Given the description of an element on the screen output the (x, y) to click on. 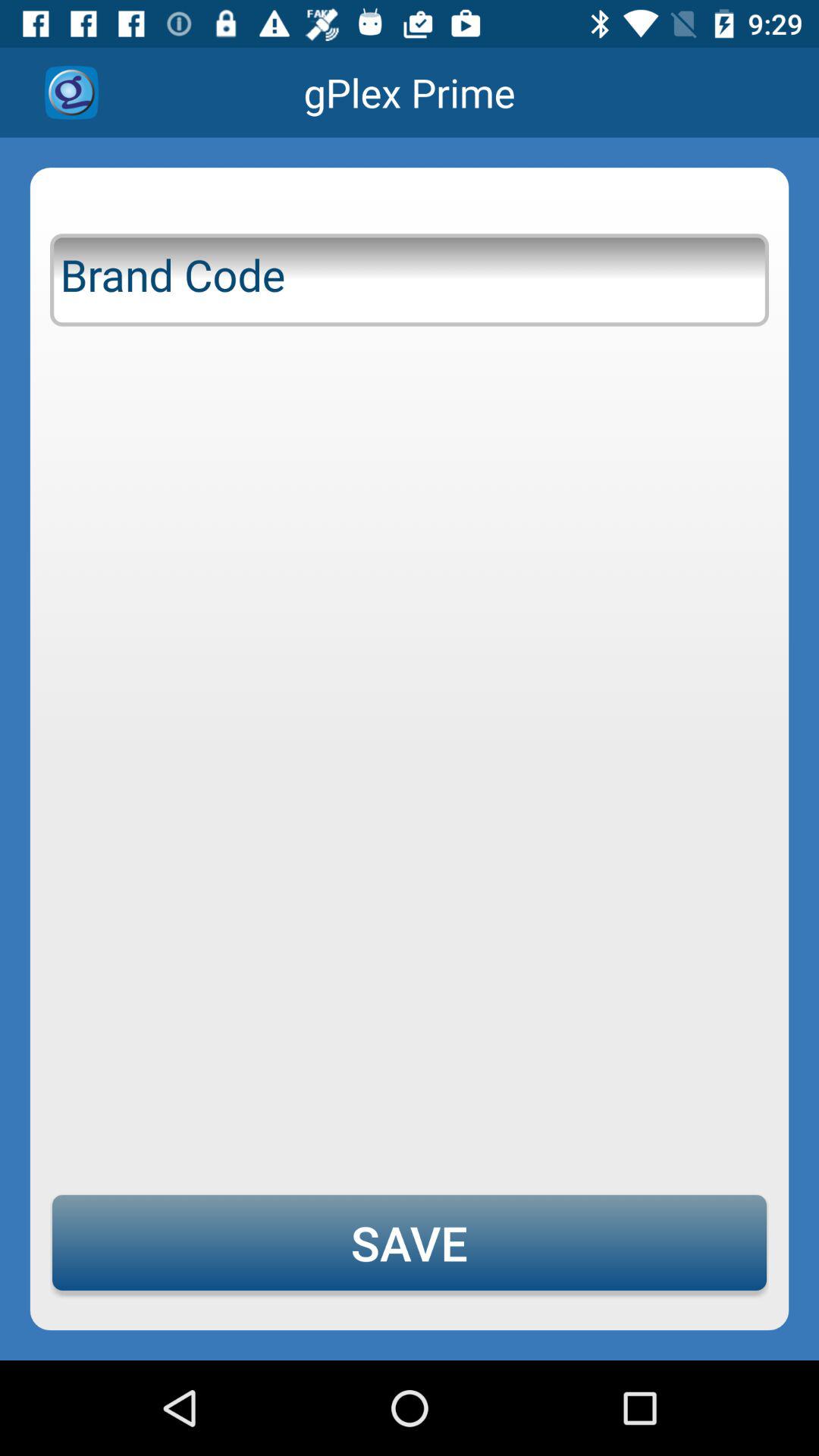
enter brand code (409, 277)
